Given the description of an element on the screen output the (x, y) to click on. 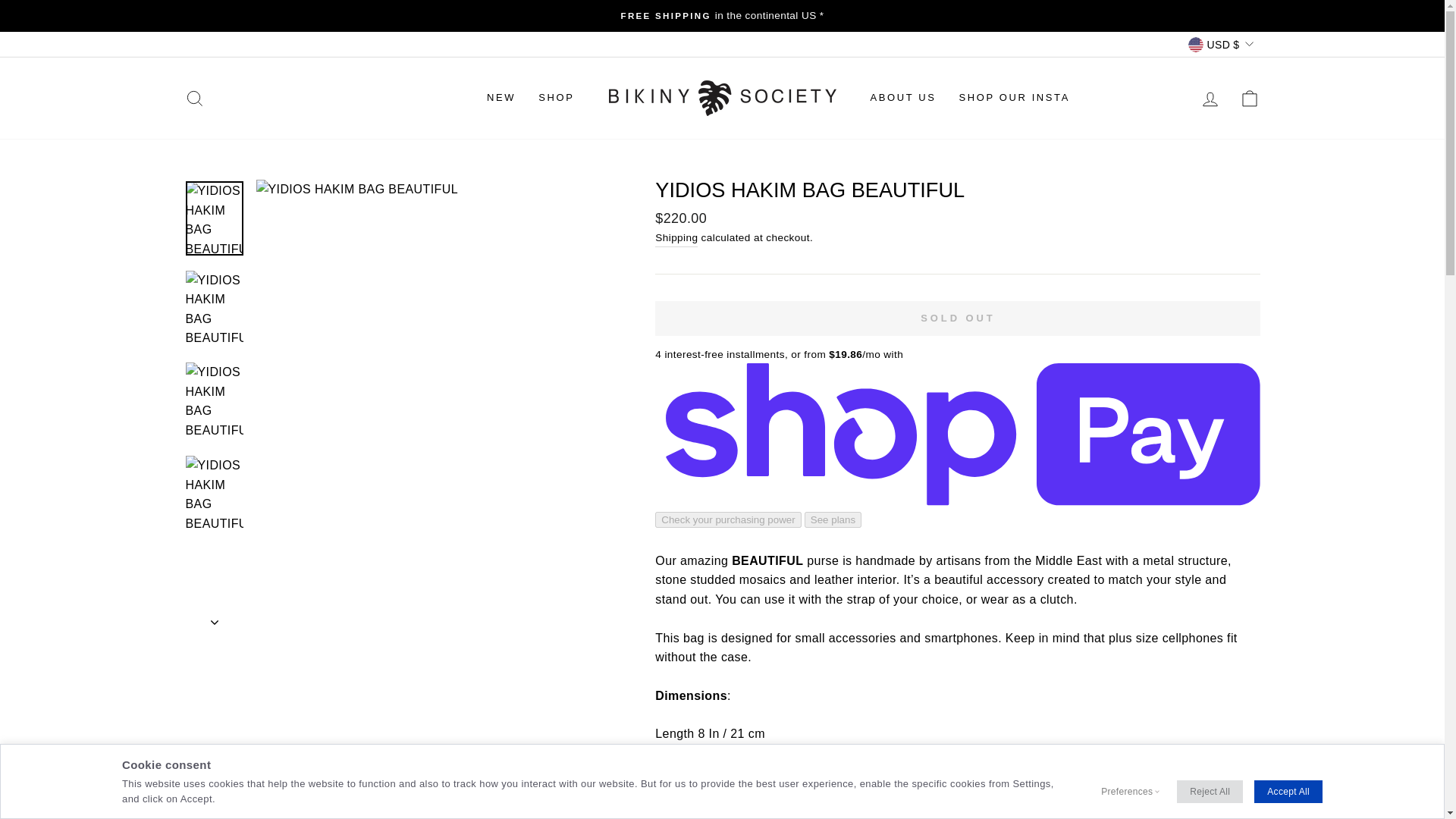
Shopify online store chat (1383, 781)
